Given the description of an element on the screen output the (x, y) to click on. 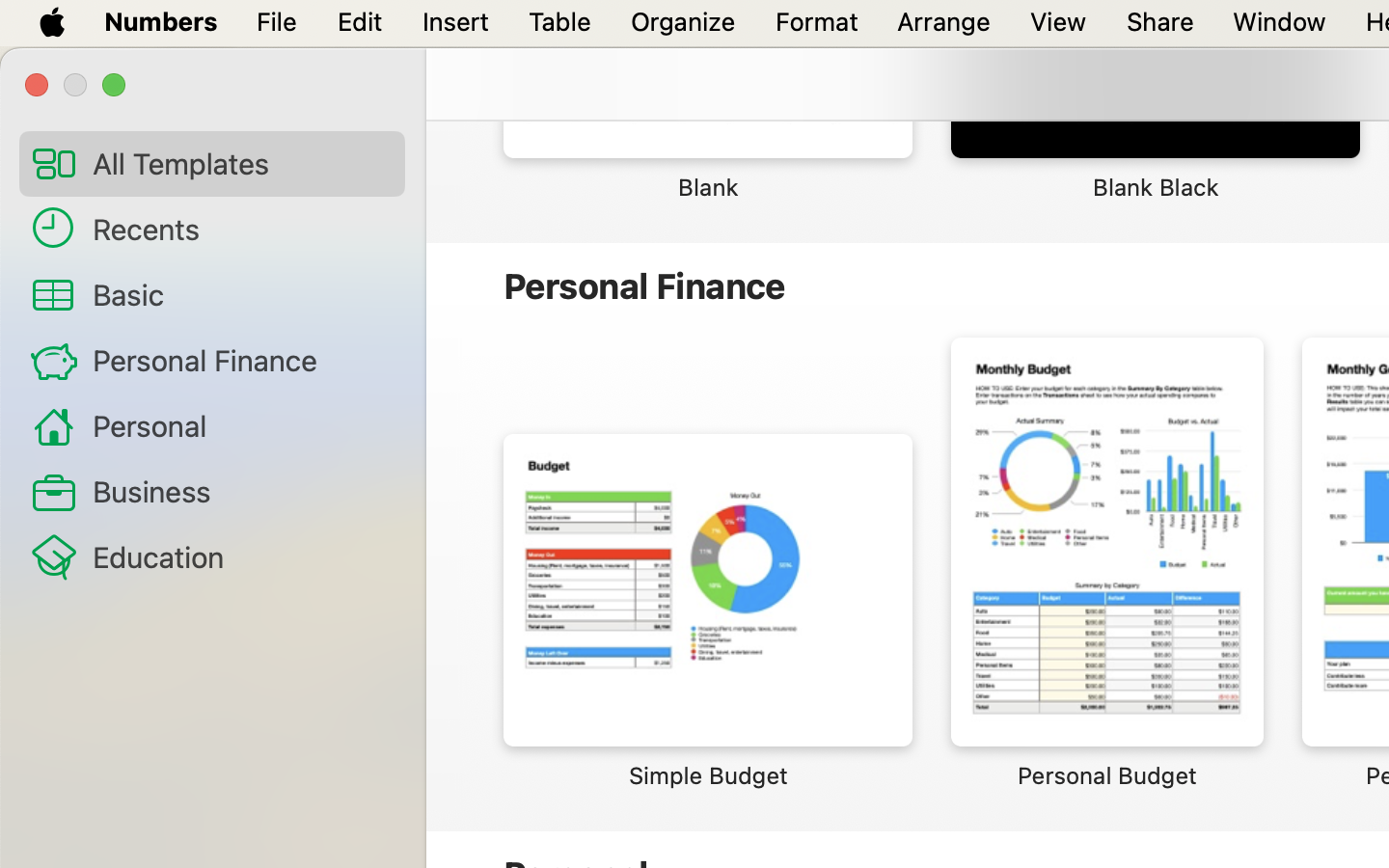
Business Element type: AXStaticText (240, 490)
Education Element type: AXStaticText (240, 556)
